Given the description of an element on the screen output the (x, y) to click on. 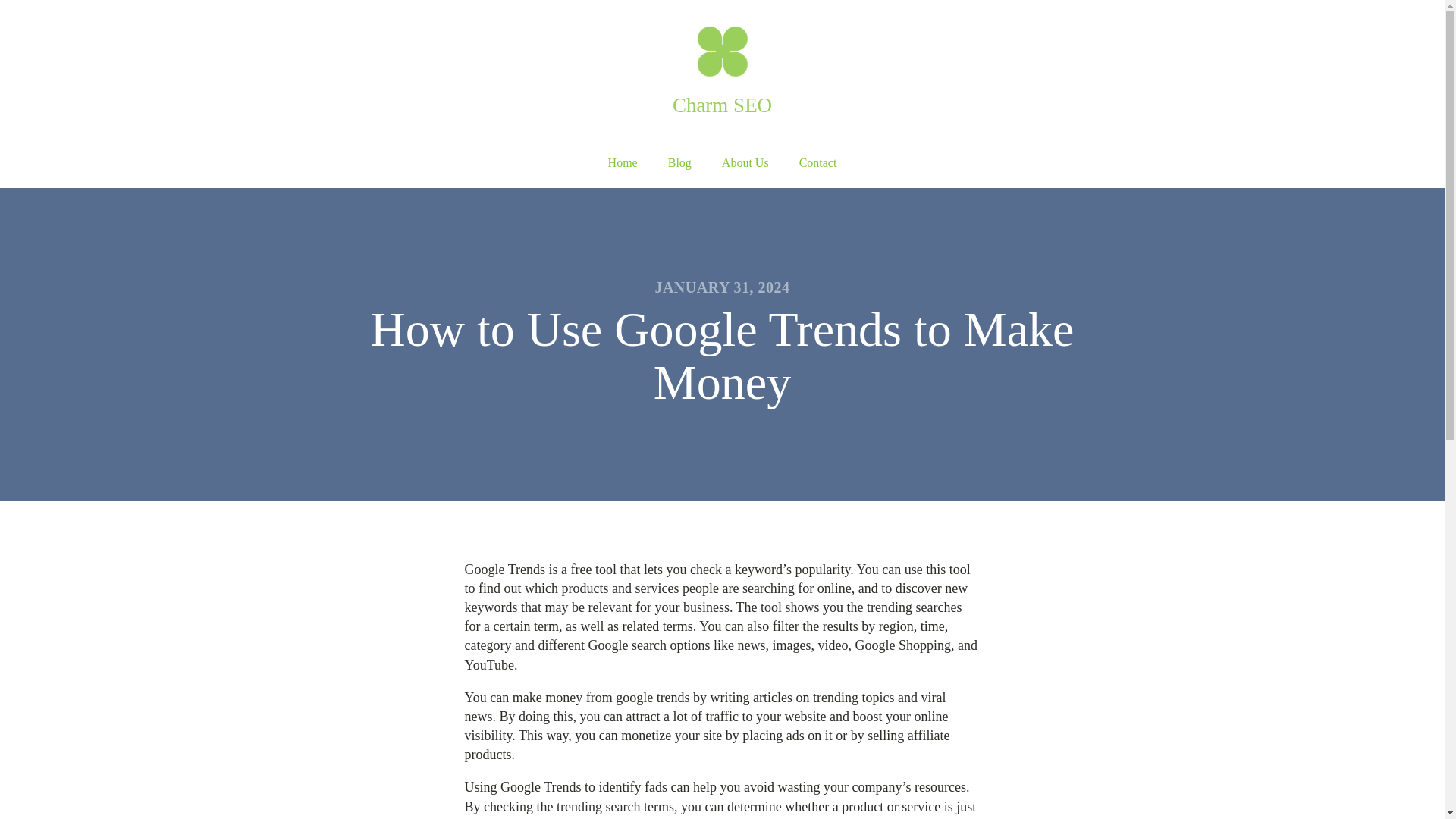
About Us (745, 163)
Contact (817, 163)
Blog (679, 163)
Home (622, 163)
